Given the description of an element on the screen output the (x, y) to click on. 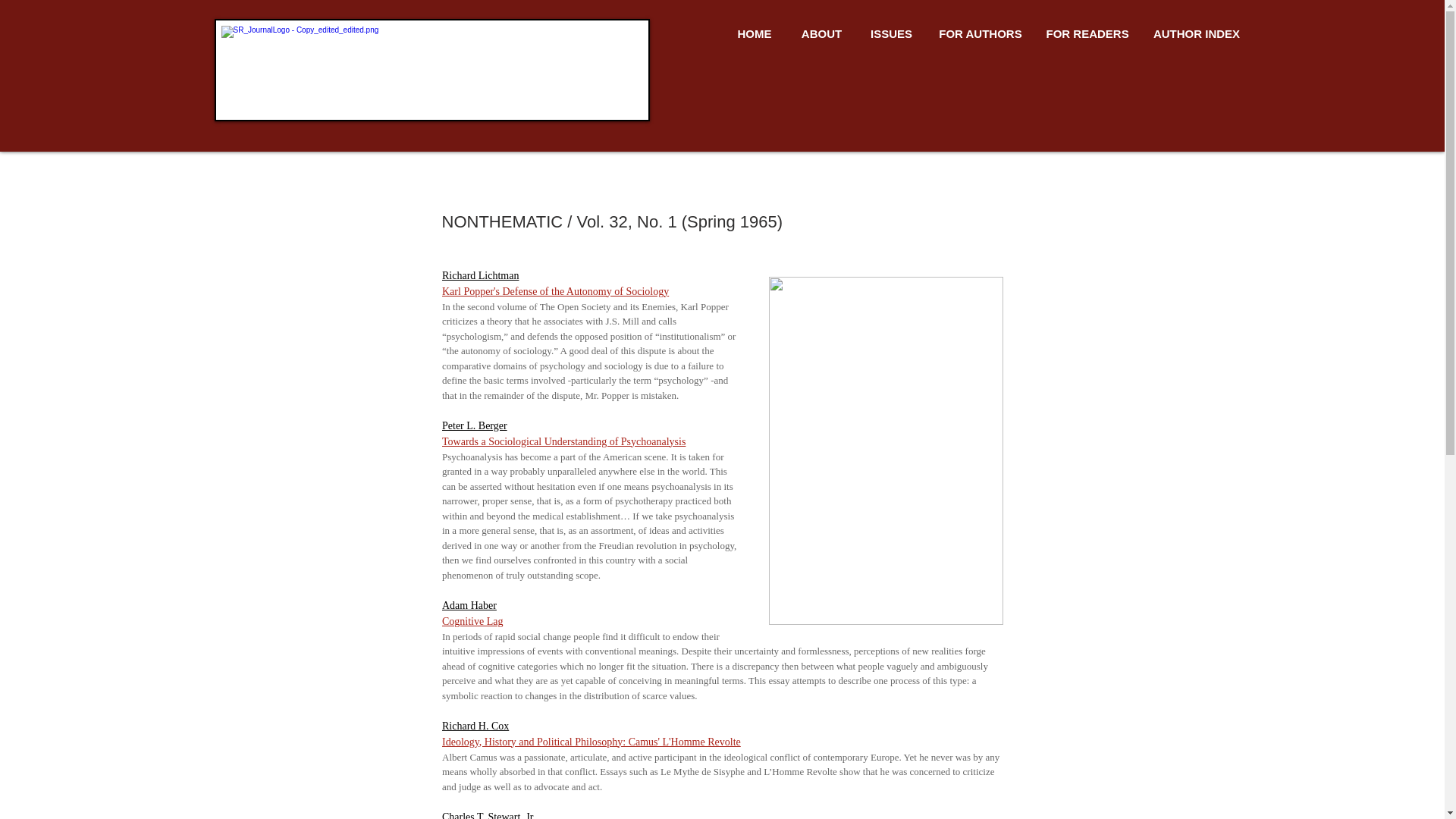
Peter L. Berger (473, 425)
Cognitive Lag (471, 621)
Richard H. Cox (474, 726)
Richard Lichtman (479, 275)
Karl Popper's Defense of the Autonomy of Sociology (554, 290)
Adam Haber (468, 604)
Charles T. Stewart, Jr. (487, 815)
AUTHOR INDEX (1196, 33)
Towards a Sociological Understanding of Psychoanalysis (562, 440)
